Given the description of an element on the screen output the (x, y) to click on. 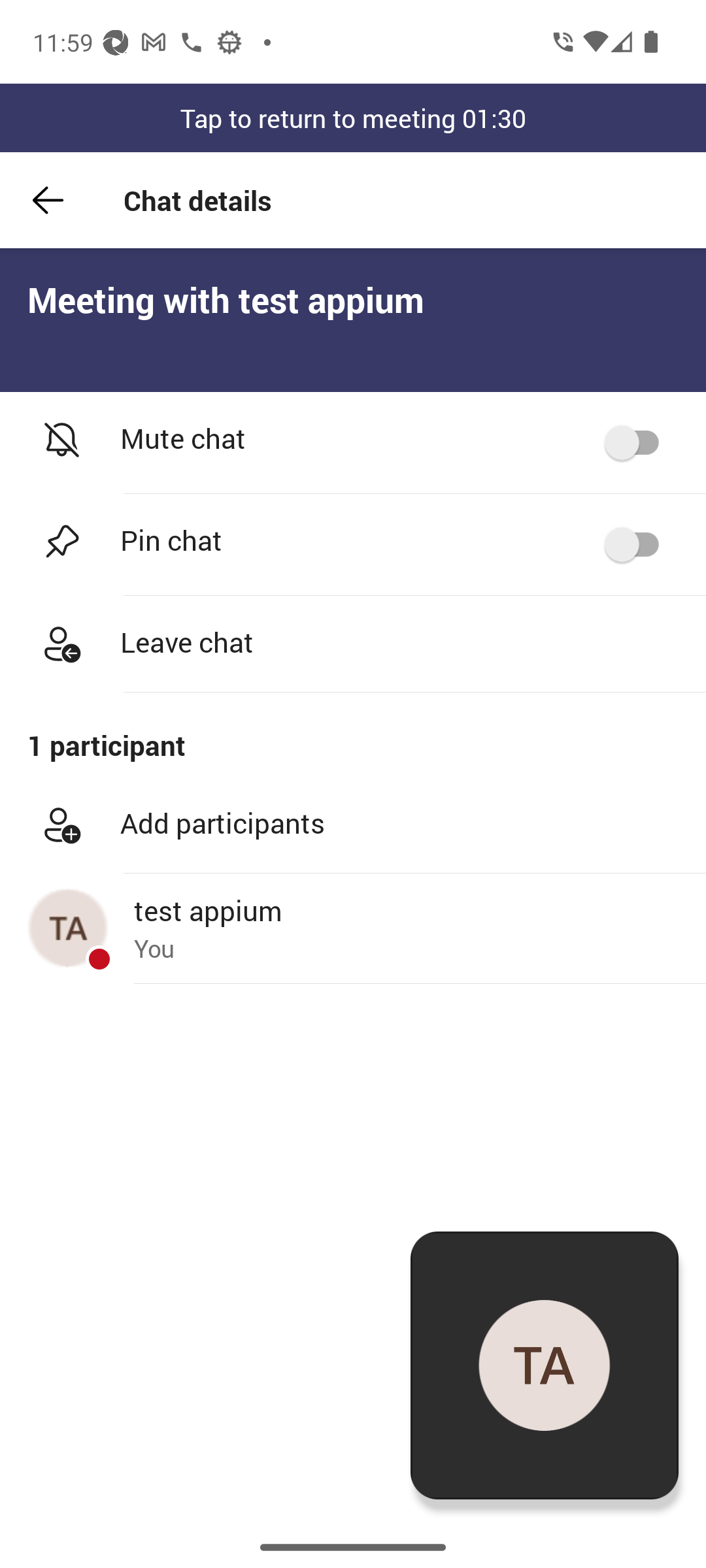
Tap to return to meeting 01:30 (353, 117)
Back (48, 199)
Mute chat (353, 442)
Pin chat (353, 544)
Leave chat (353, 644)
Add participants (353, 824)
